Given the description of an element on the screen output the (x, y) to click on. 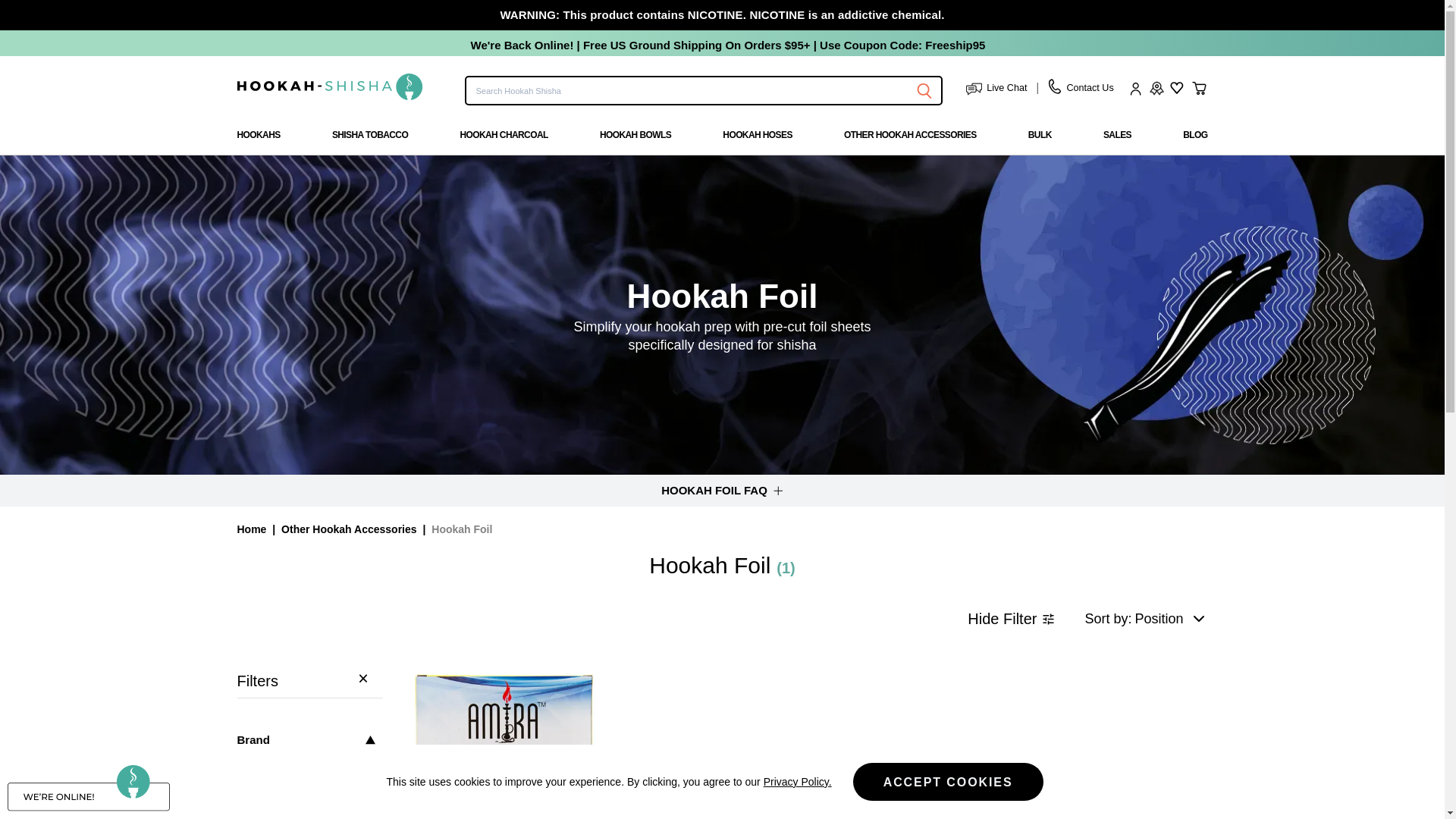
Home (250, 529)
Shisha Tobacco (369, 141)
Other Hookah Accessories (910, 141)
Hide Filter (1011, 618)
Hookah Hoses (757, 141)
Hookah Bowls (635, 141)
Other Hookah Accessories (348, 529)
BULK (1039, 134)
Hookahs (257, 141)
Logo (328, 86)
Bulk (1039, 141)
Contact Us (1080, 87)
Live Chat (996, 87)
BLOG (1194, 134)
